Given the description of an element on the screen output the (x, y) to click on. 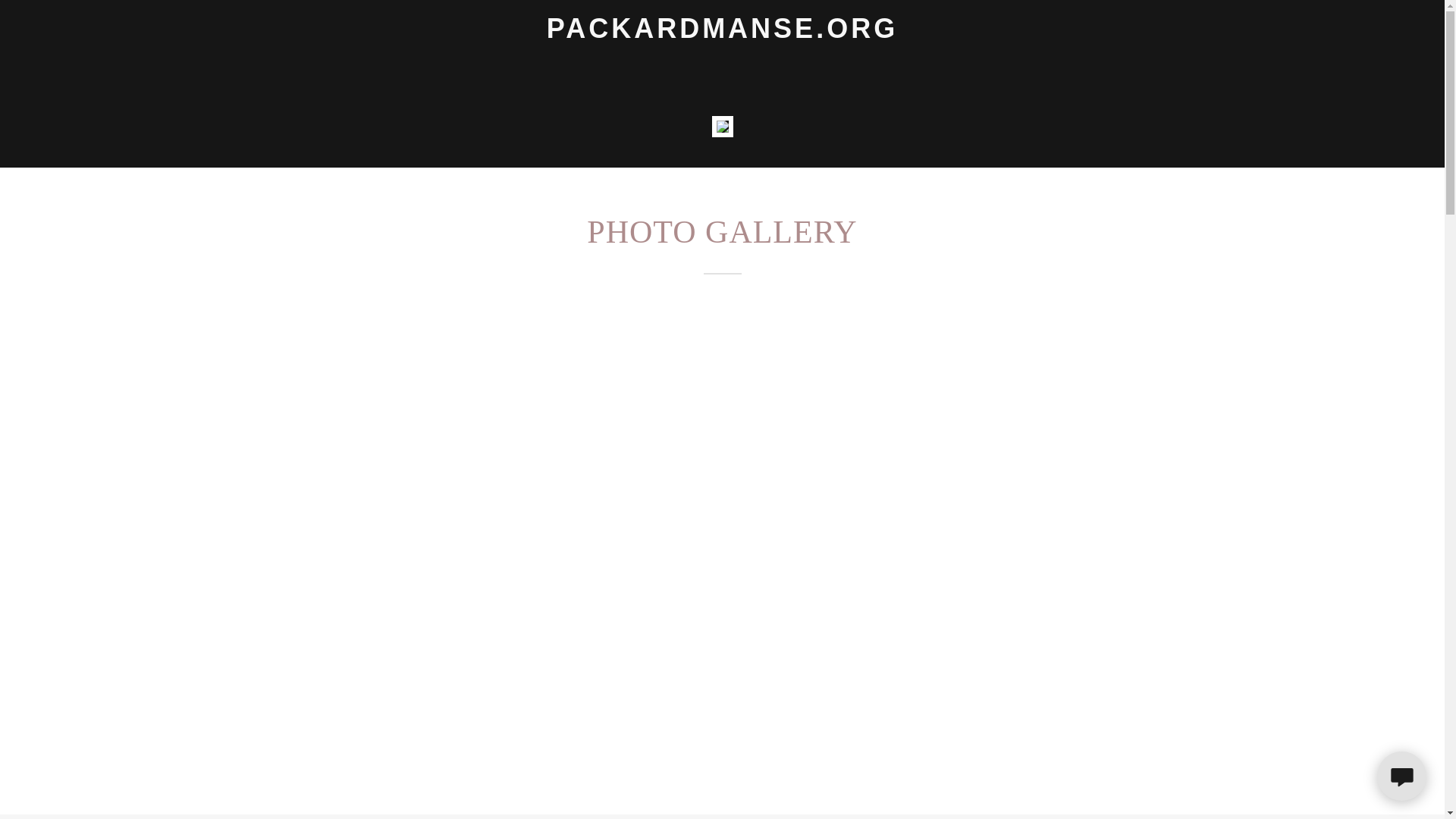
packardmanse.org (721, 32)
PACKARDMANSE.ORG (721, 32)
